Given the description of an element on the screen output the (x, y) to click on. 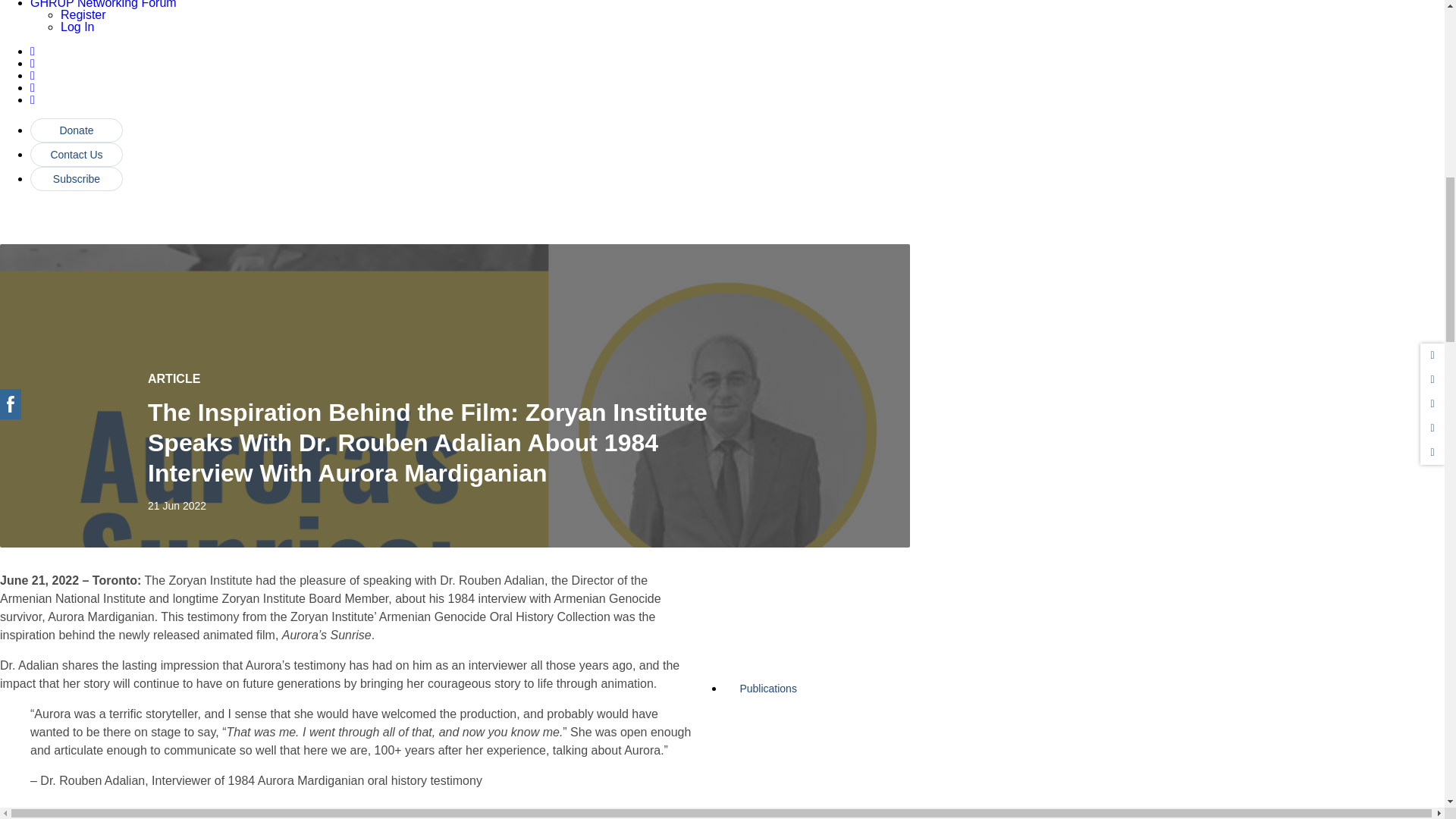
About Us (808, 531)
